Given the description of an element on the screen output the (x, y) to click on. 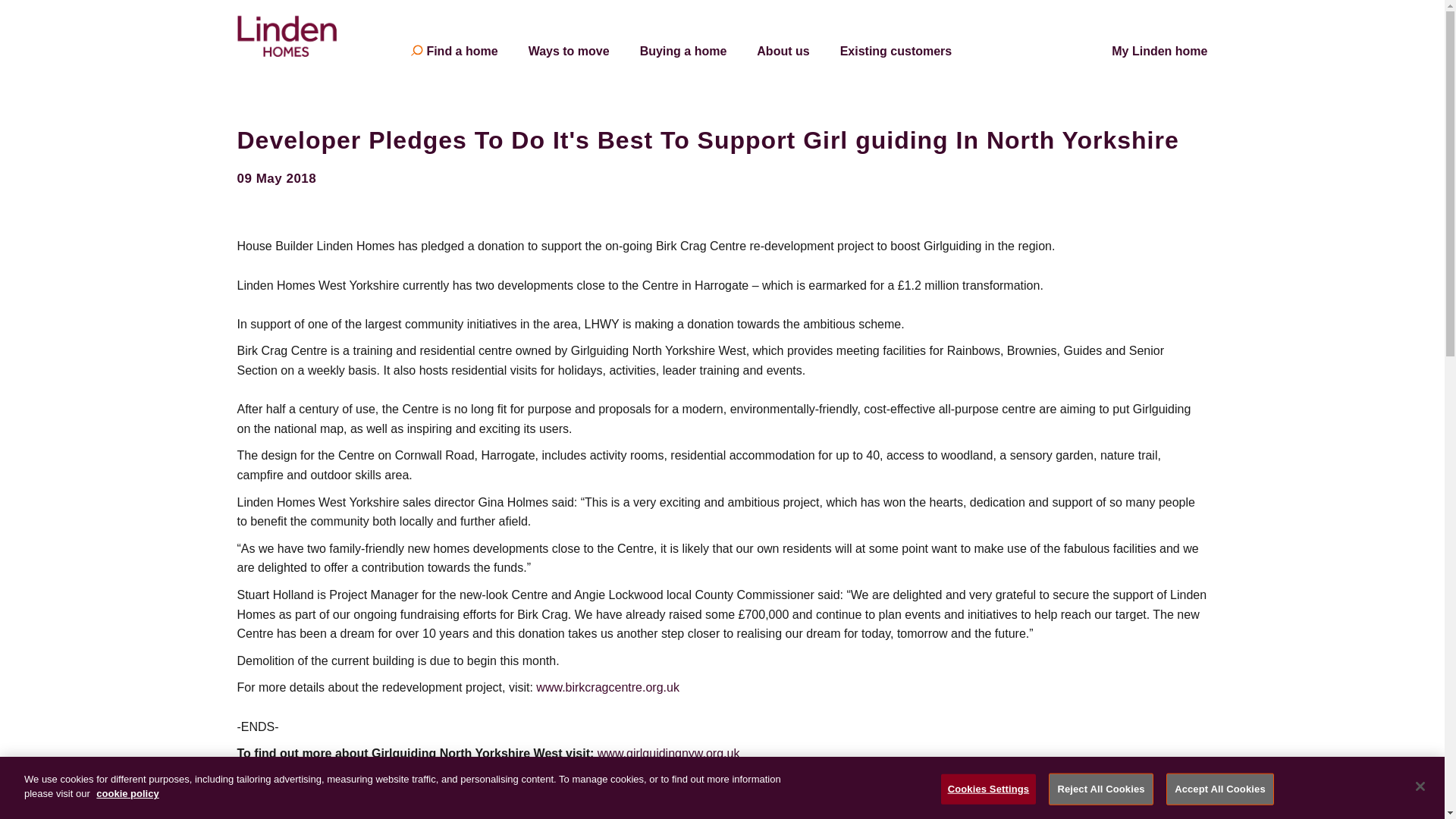
About us (783, 51)
Find a home (461, 51)
My Linden home (1159, 51)
Existing customers (896, 51)
Buying a home (683, 51)
Ways to move (569, 51)
